Given the description of an element on the screen output the (x, y) to click on. 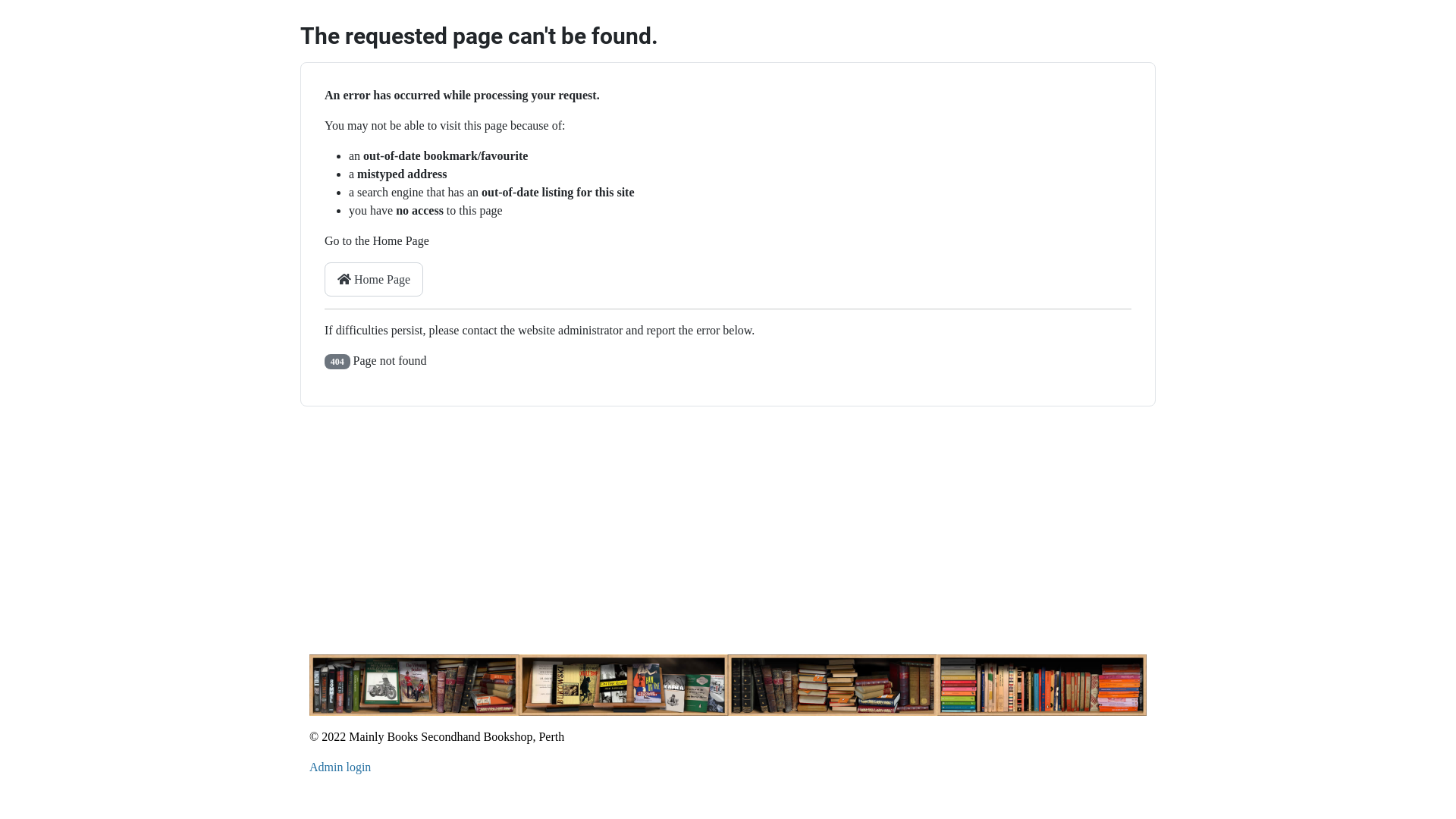
Home Page Element type: text (373, 279)
Admin login Element type: text (339, 766)
